Given the description of an element on the screen output the (x, y) to click on. 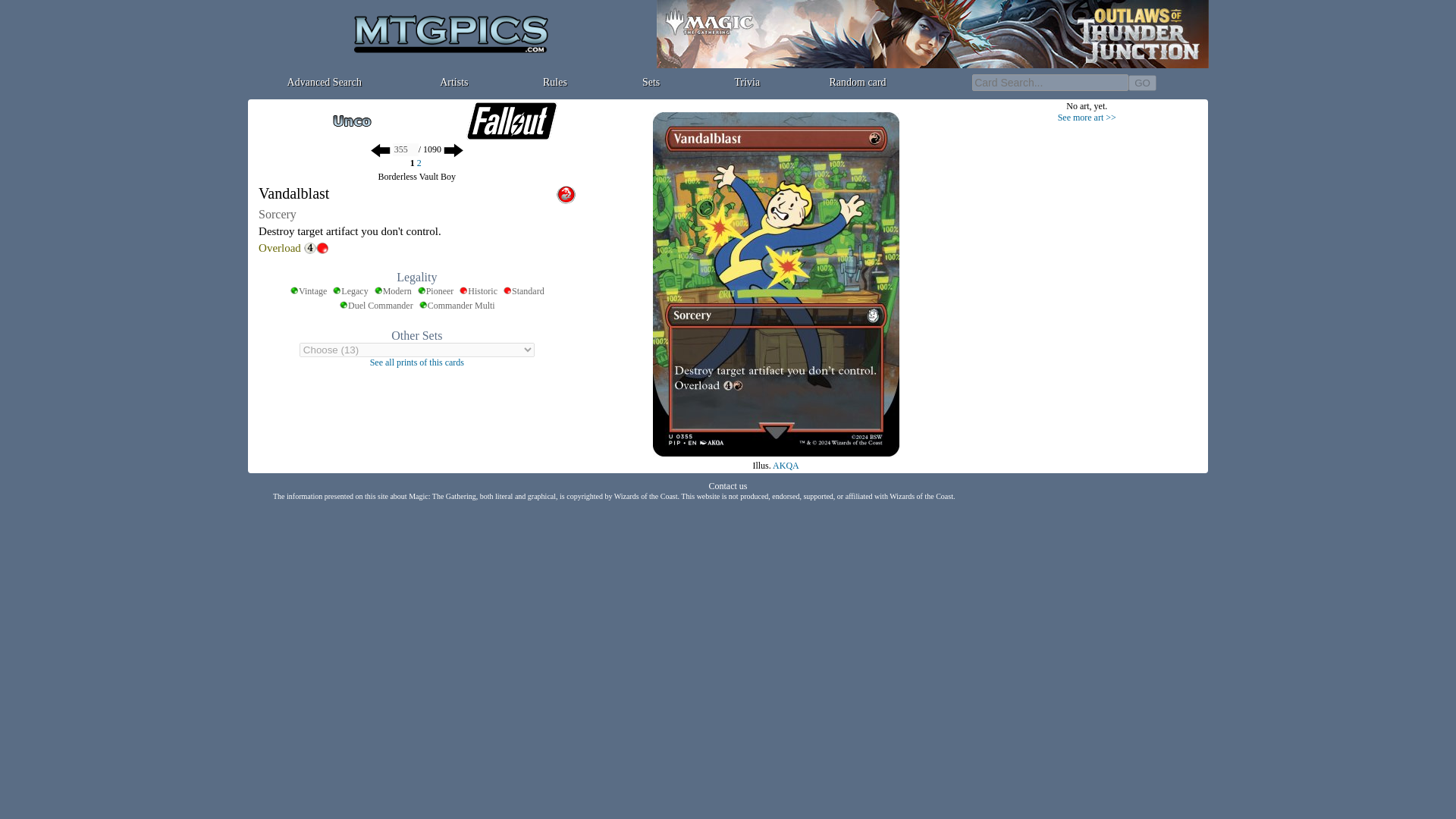
Legal in Multiplayer Commander (457, 306)
Sets (650, 81)
Banned in Historic (477, 291)
Legal in Legacy (349, 291)
Rules (555, 81)
AKQA (786, 465)
Contact us (726, 485)
Legal in Vintage (307, 291)
Artists (453, 81)
See all prints of this cards (416, 361)
